Given the description of an element on the screen output the (x, y) to click on. 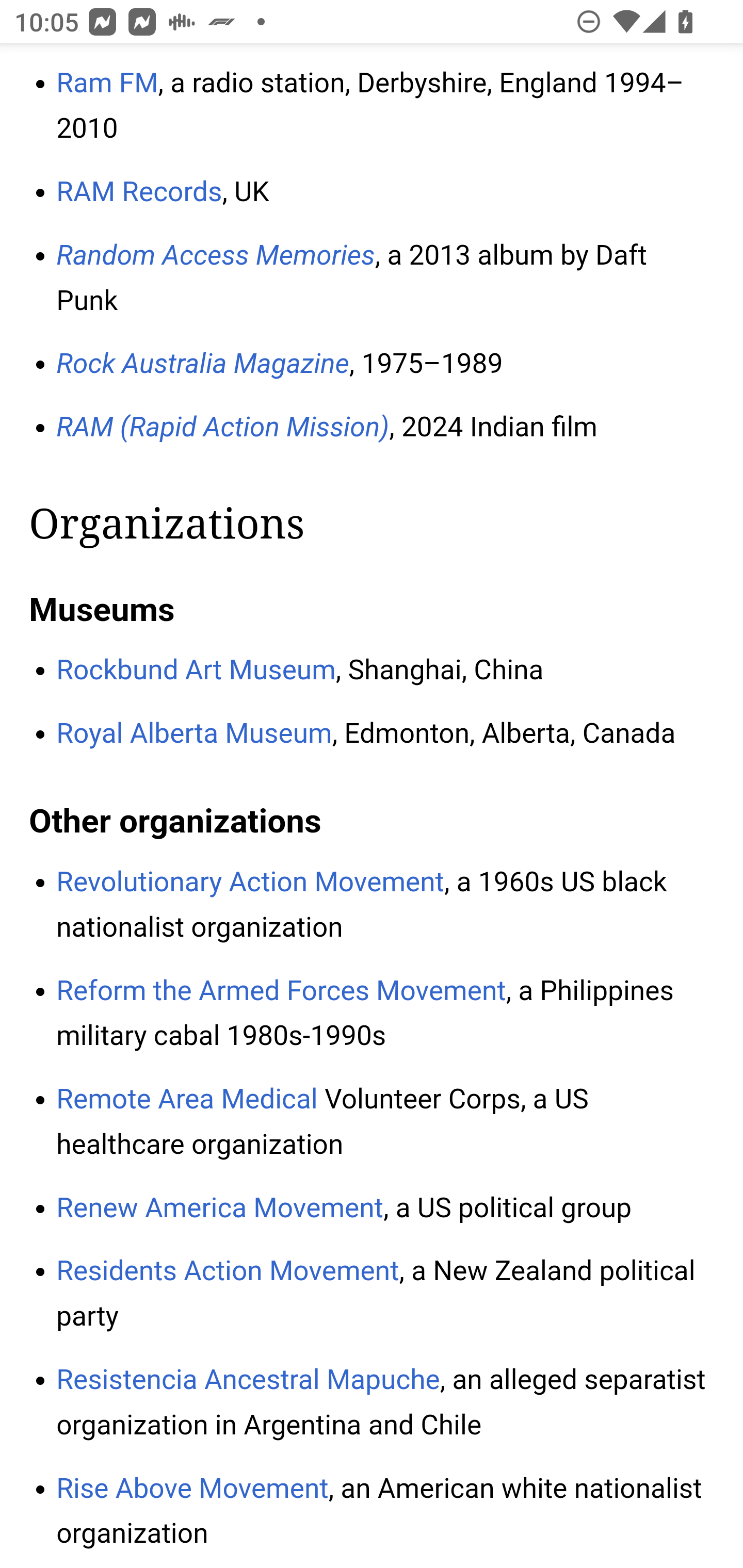
Ram FM (107, 82)
RAM Records (139, 192)
Random Access Memories (215, 255)
Rock Australia Magazine (202, 365)
RAM (Rapid Action Mission) (222, 427)
Rockbund Art Museum (196, 669)
Royal Alberta Museum (194, 733)
Revolutionary Action Movement (250, 882)
Reform the Armed Forces Movement (281, 991)
Remote Area Medical (187, 1099)
Renew America Movement (219, 1208)
Residents Action Movement (228, 1271)
Resistencia Ancestral Mapuche (247, 1379)
Rise Above Movement (192, 1487)
